Given the description of an element on the screen output the (x, y) to click on. 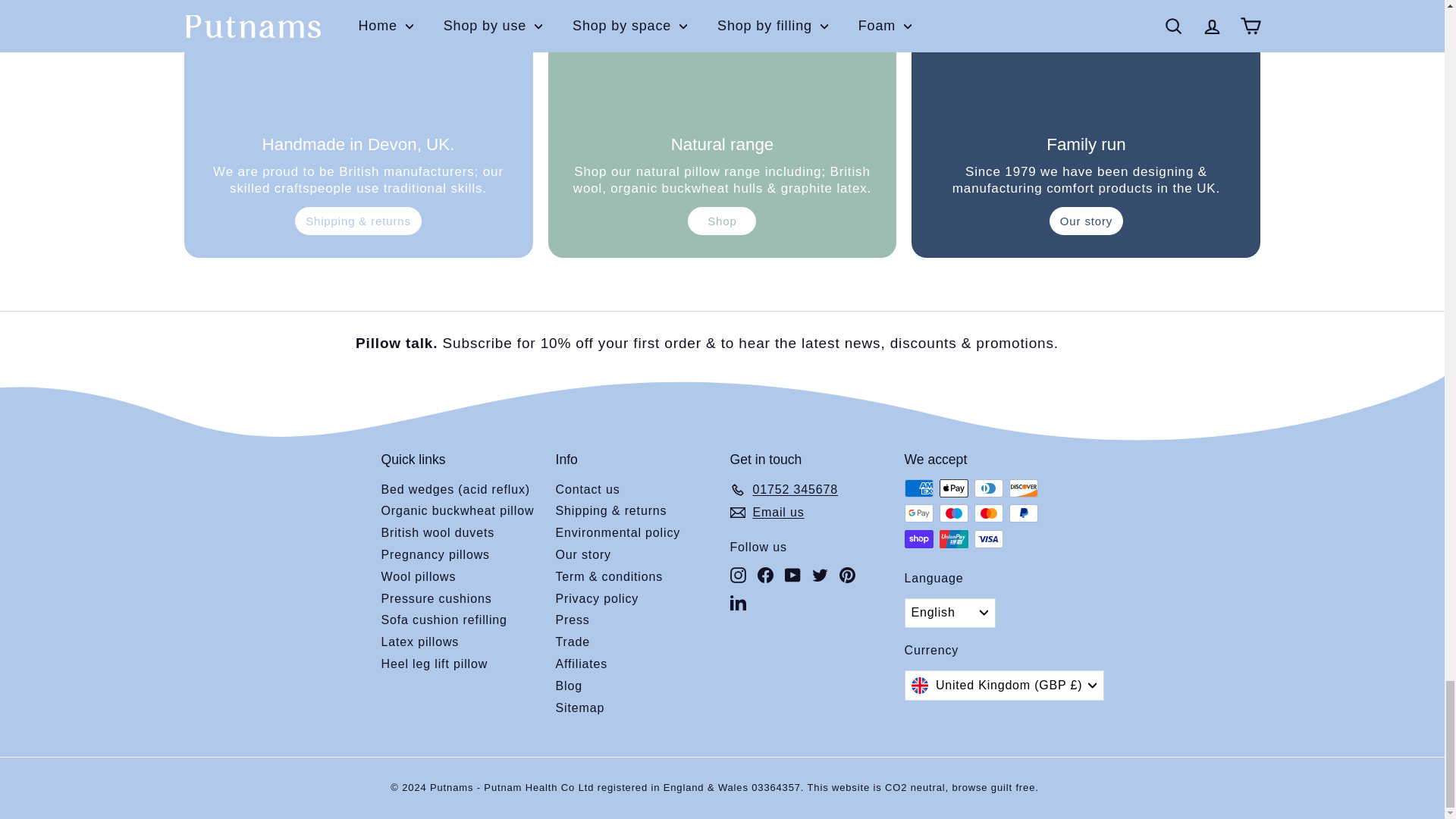
instagram (737, 575)
